Given the description of an element on the screen output the (x, y) to click on. 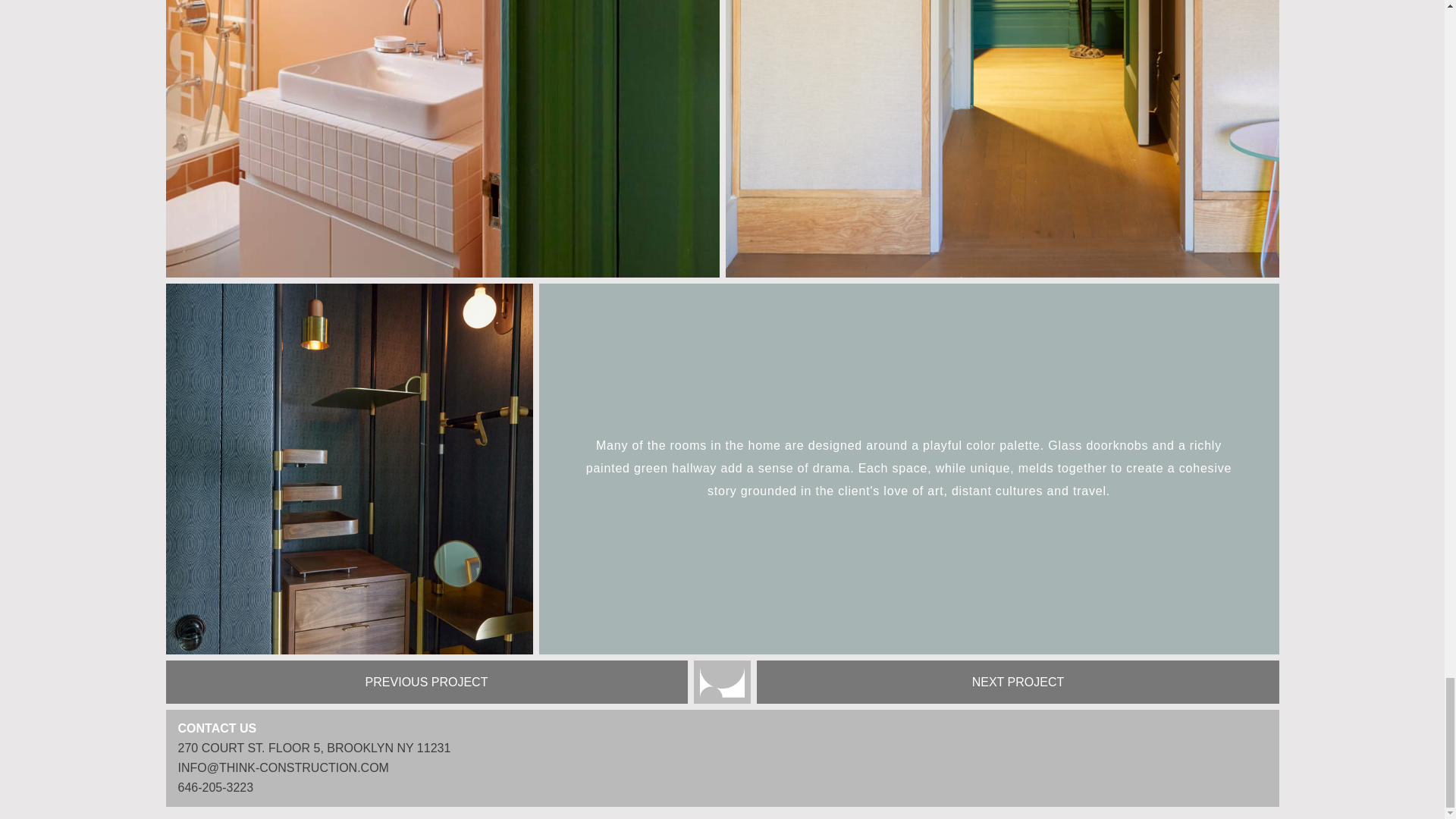
PREVIOUS PROJECT (426, 681)
270 COURT ST. FLOOR 5, BROOKLYN NY 11231 (313, 748)
NEXT PROJECT (1017, 681)
646-205-3223 (215, 787)
